Given the description of an element on the screen output the (x, y) to click on. 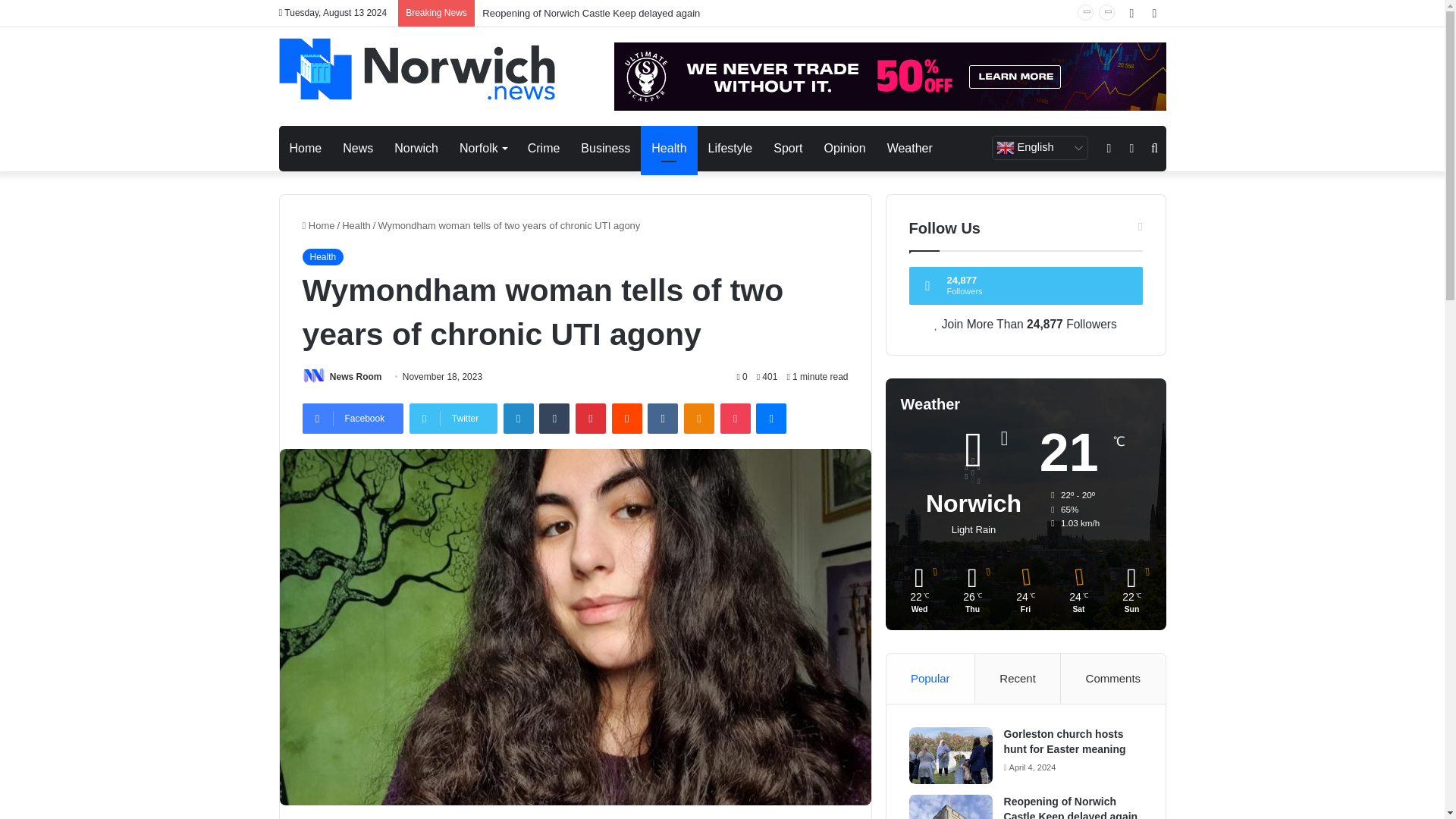
Weather (909, 148)
Health (668, 148)
News (357, 148)
English (1039, 147)
Norwich News (416, 69)
Norwich (416, 148)
Norfolk (482, 148)
Opinion (844, 148)
Crime (543, 148)
Sport (787, 148)
